Given the description of an element on the screen output the (x, y) to click on. 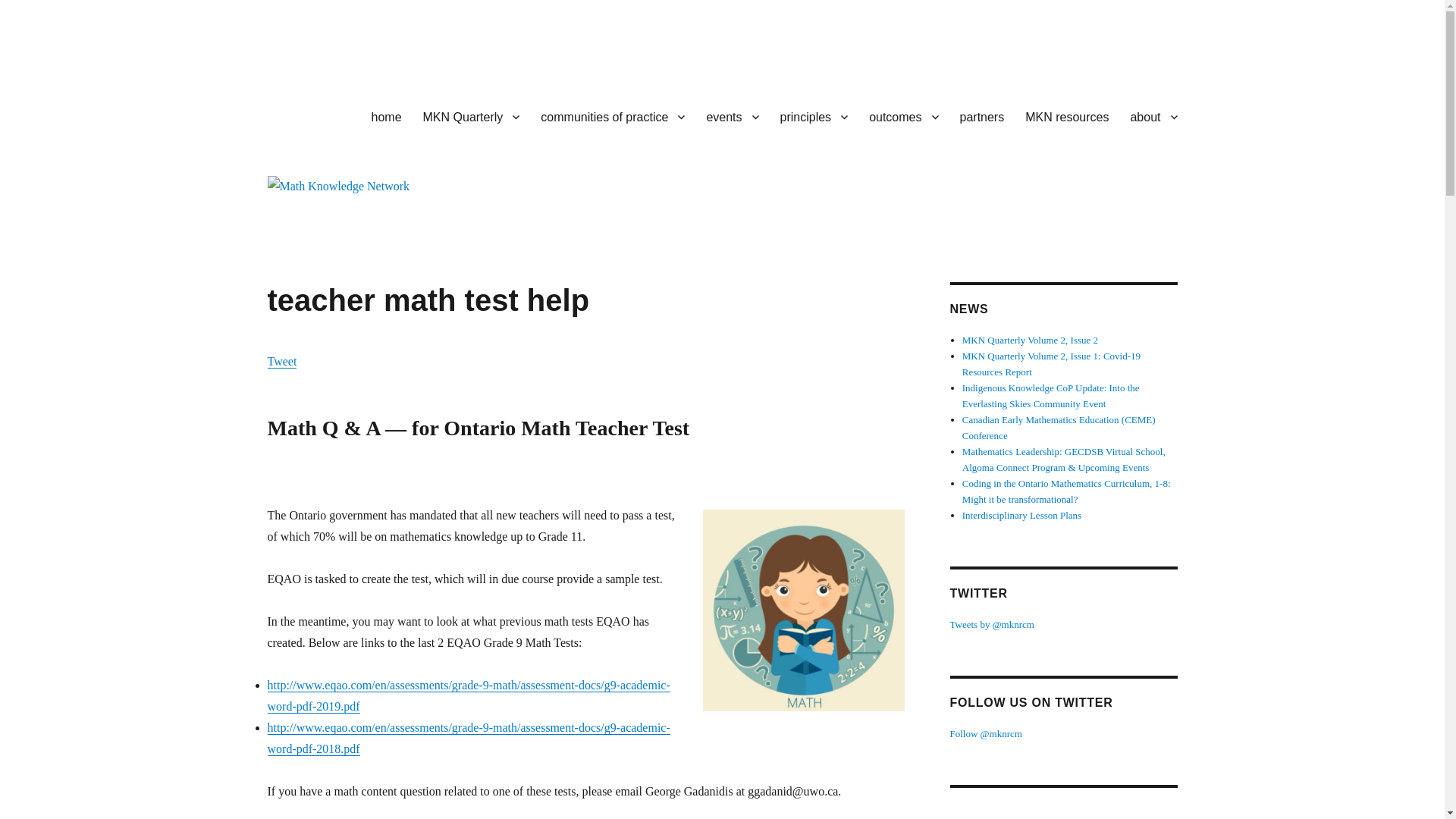
Math Knowledge Network (395, 114)
MKN Quarterly (471, 116)
home (386, 116)
